Given the description of an element on the screen output the (x, y) to click on. 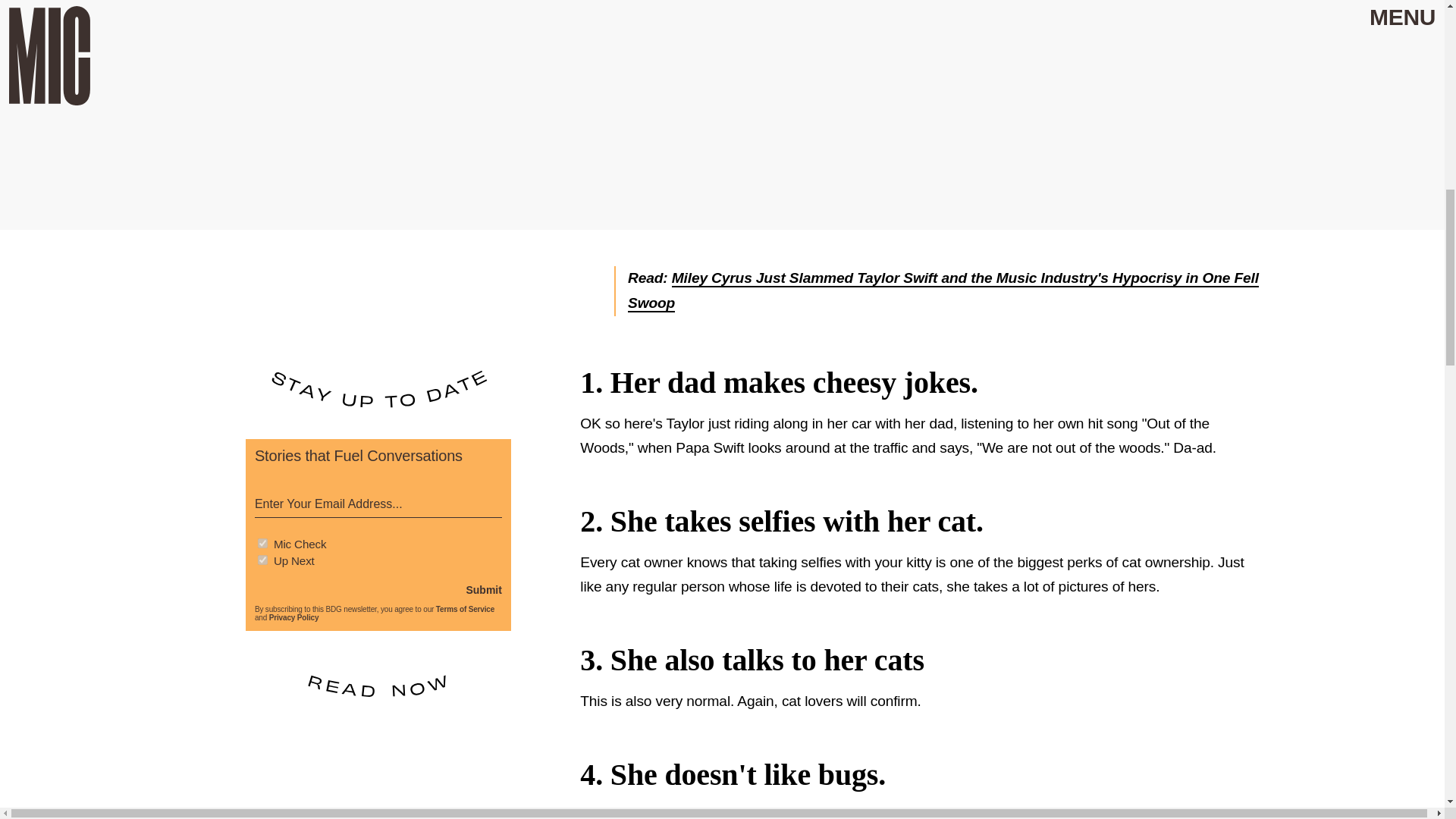
Terms of Service (465, 605)
Privacy Policy (293, 614)
Submit (482, 585)
